Given the description of an element on the screen output the (x, y) to click on. 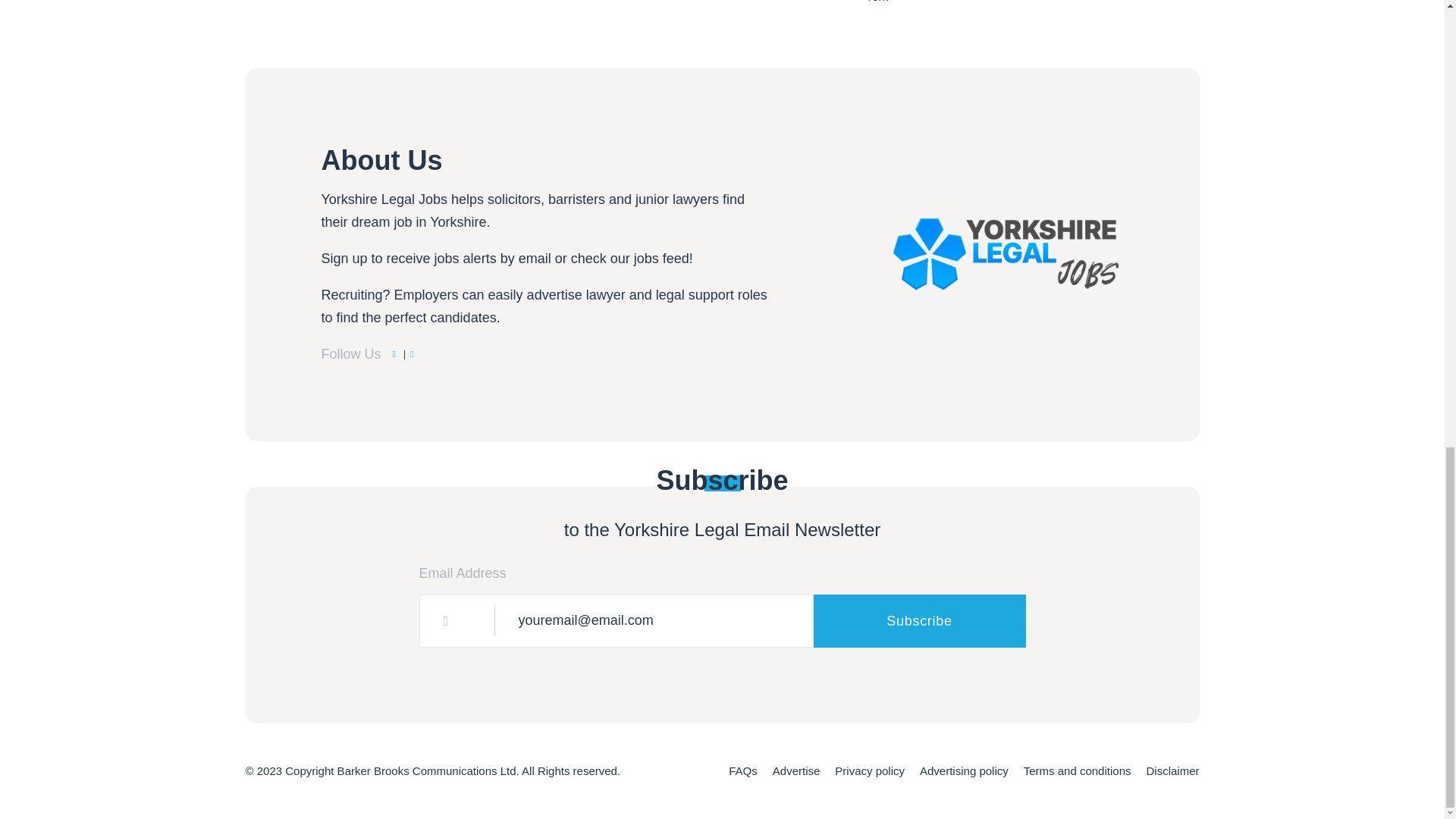
Subscribe (918, 620)
